Given the description of an element on the screen output the (x, y) to click on. 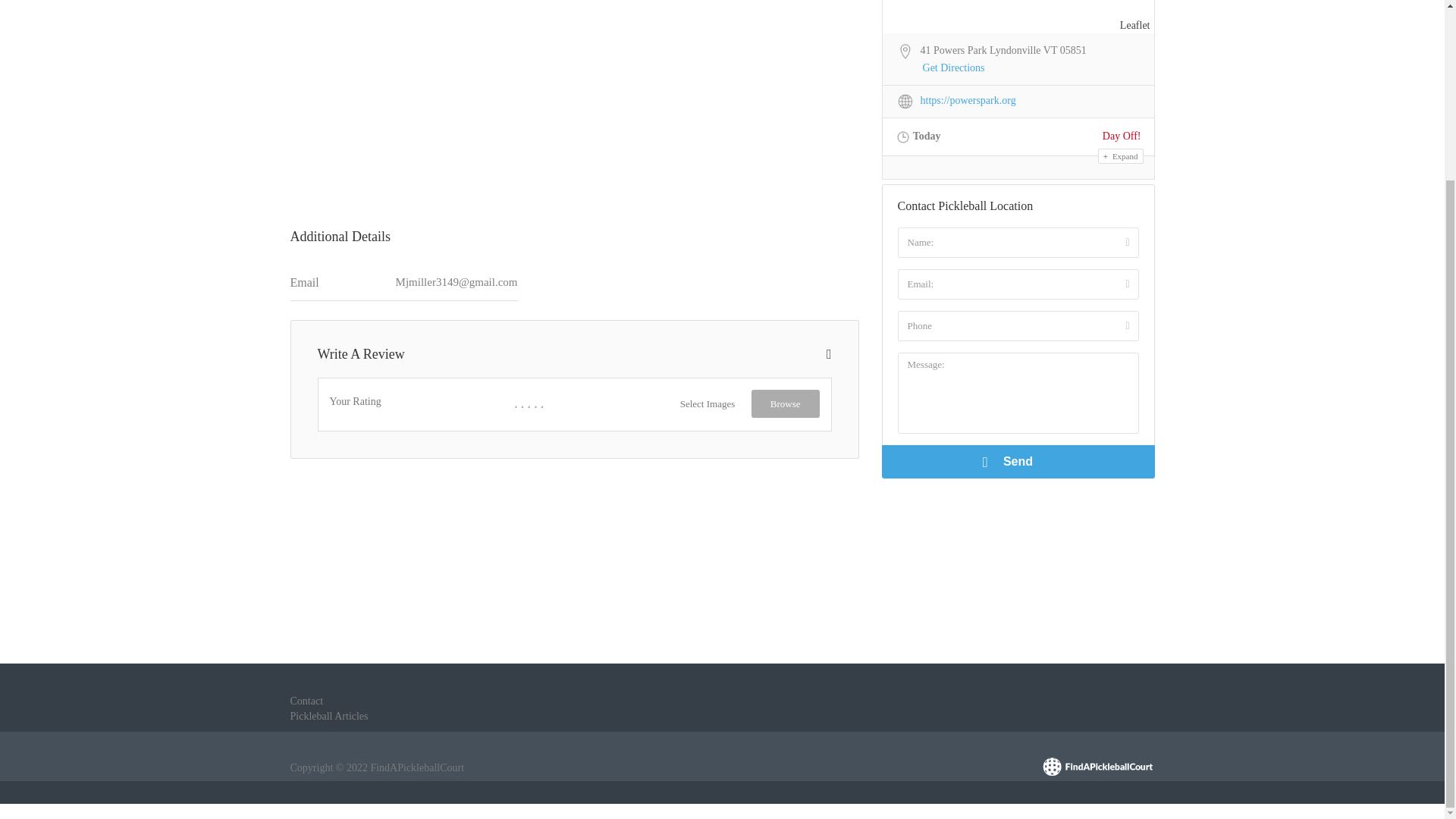
Submit (413, 278)
Expand (1119, 155)
A JS library for interactive maps (1134, 25)
Leaflet (1134, 25)
Browse (785, 403)
Get Directions (954, 68)
Claim this pickleball location (584, 346)
Send (1018, 461)
Advertisement (574, 100)
